Given the description of an element on the screen output the (x, y) to click on. 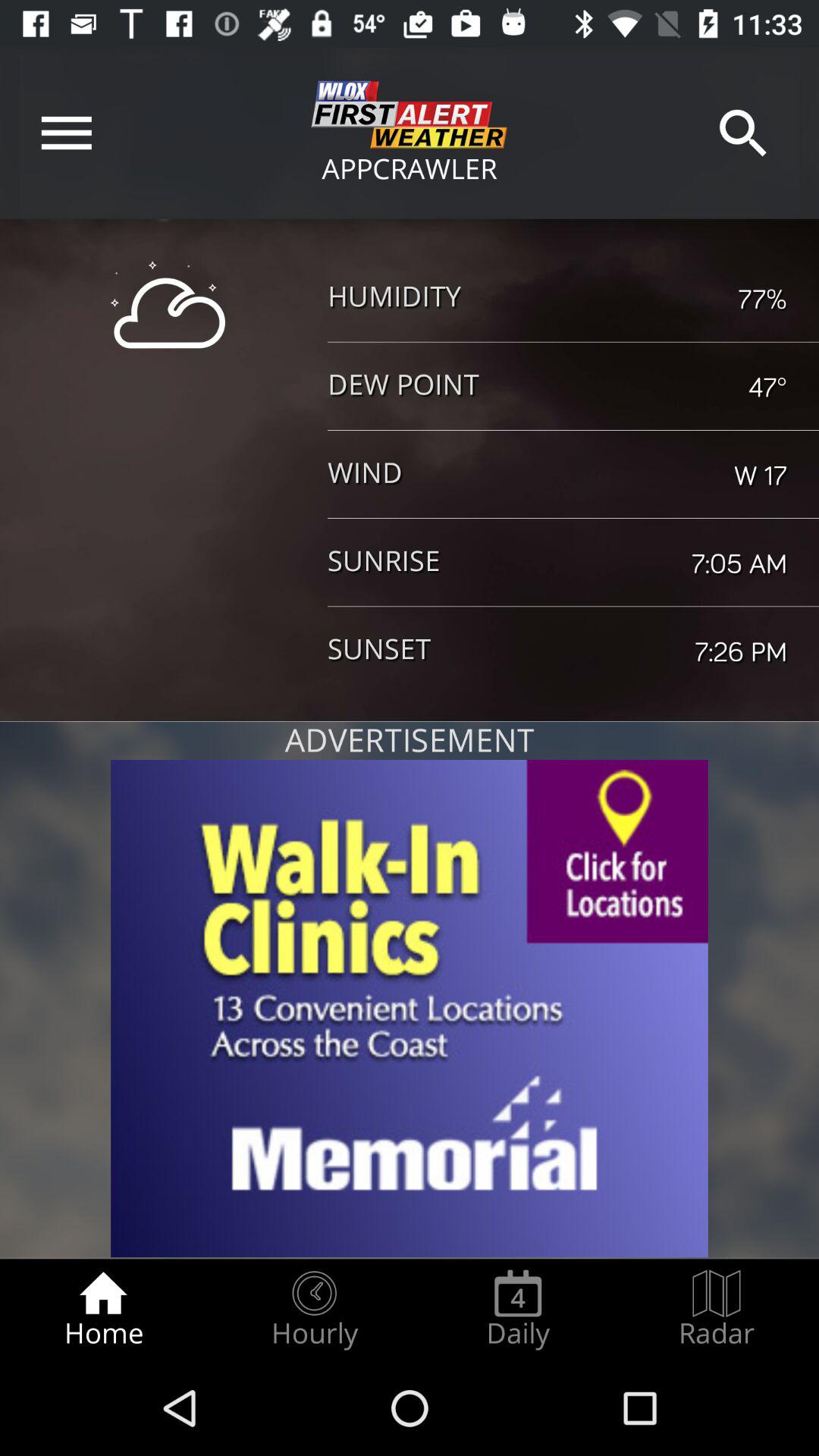
tap the radio button to the right of daily icon (716, 1309)
